Given the description of an element on the screen output the (x, y) to click on. 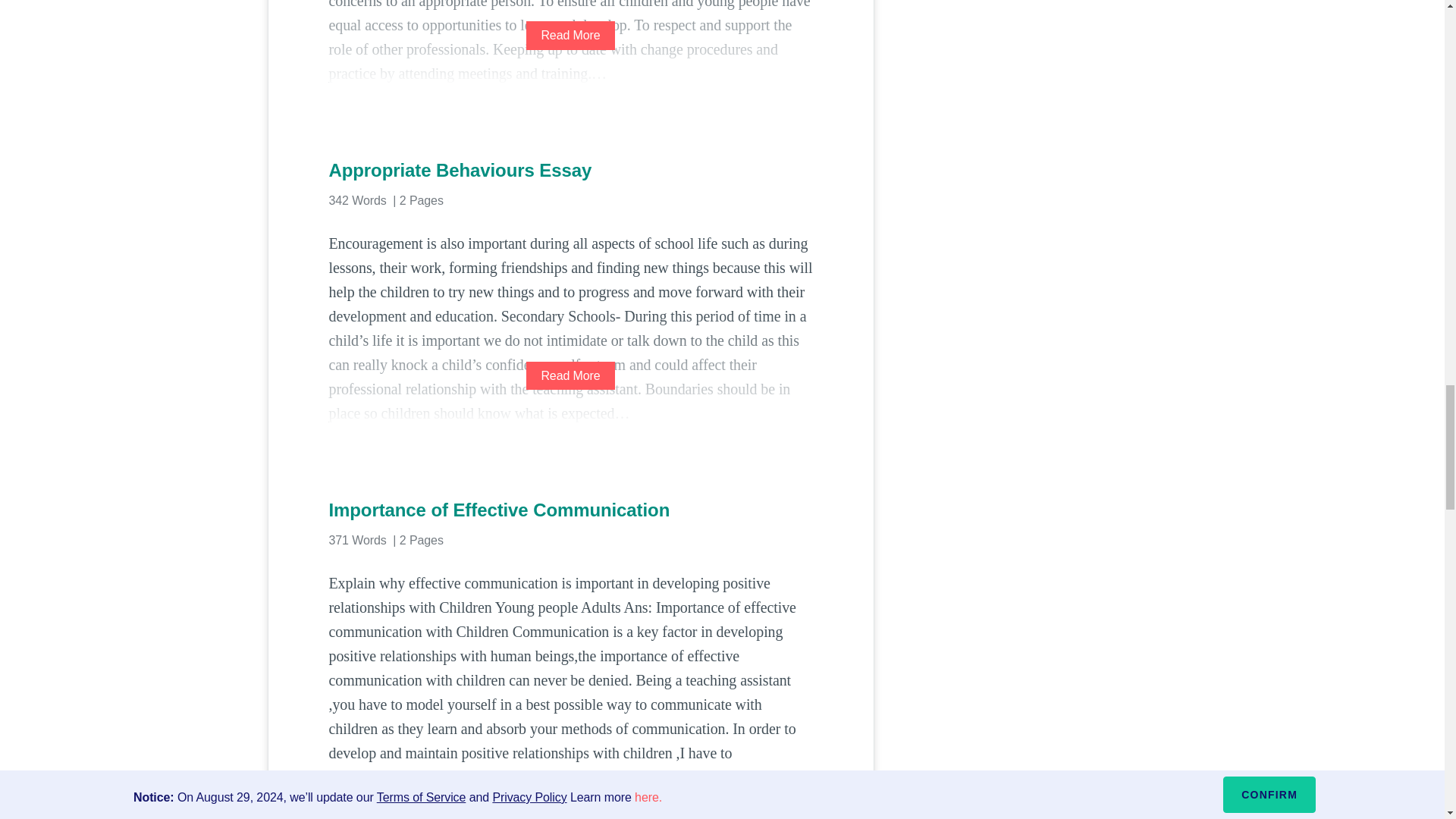
Importance of Effective Communication (570, 509)
Appropriate Behaviours Essay (570, 170)
Read More (569, 35)
Read More (569, 375)
